Given the description of an element on the screen output the (x, y) to click on. 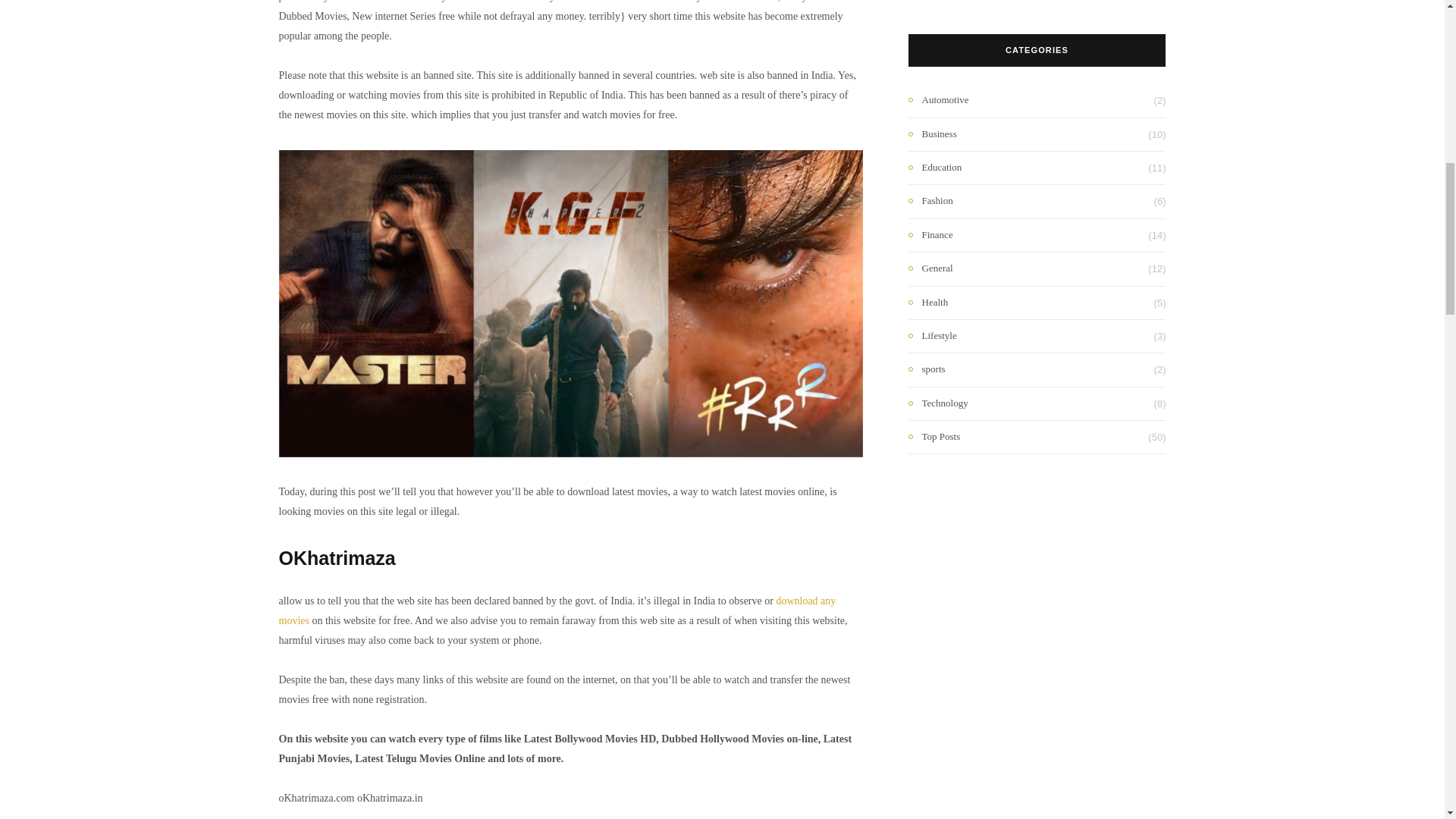
download any movies (557, 610)
